Given the description of an element on the screen output the (x, y) to click on. 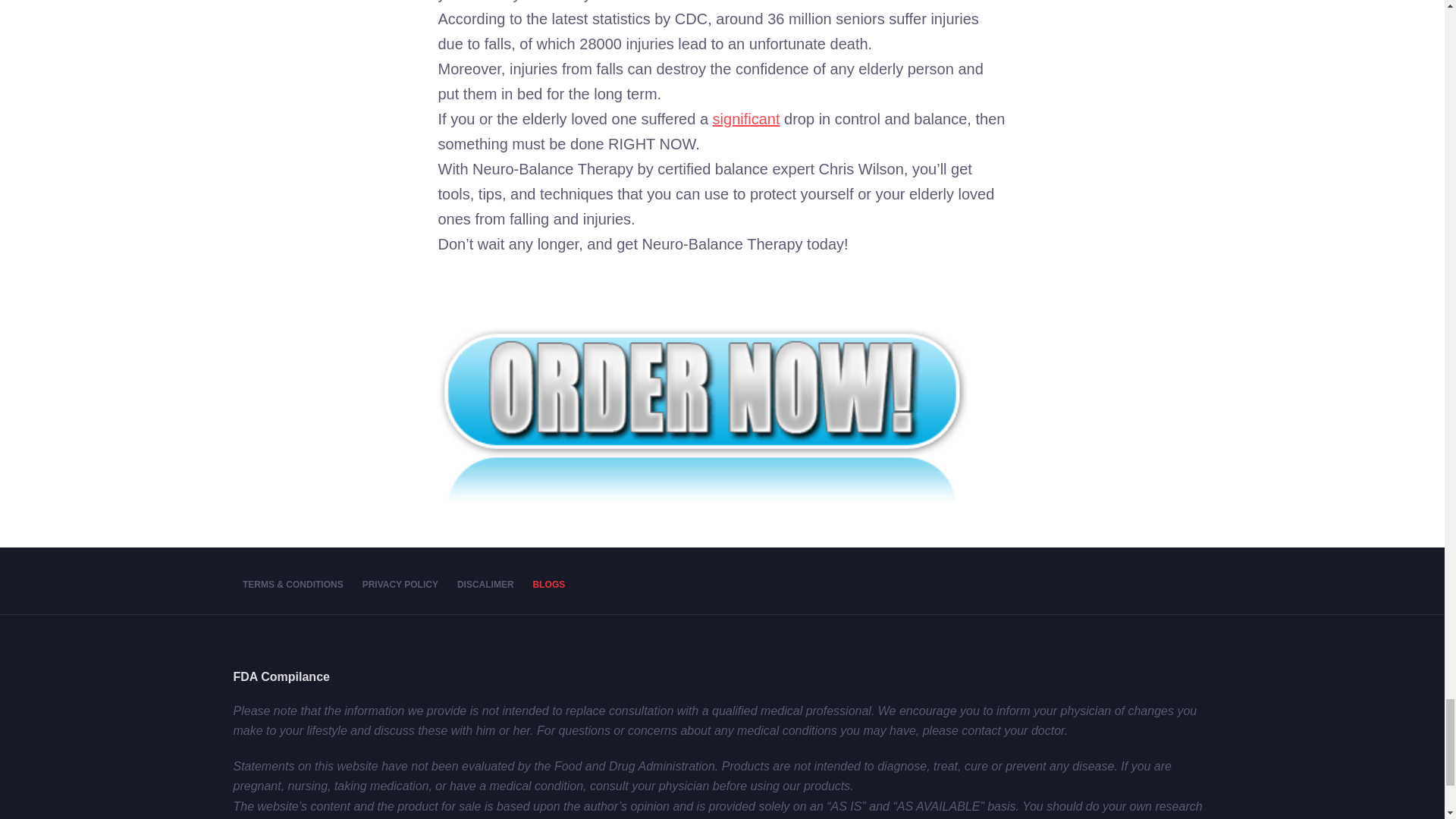
DISCALIMER (484, 585)
BLOGS (548, 585)
PRIVACY POLICY (399, 585)
significant (746, 118)
